Given the description of an element on the screen output the (x, y) to click on. 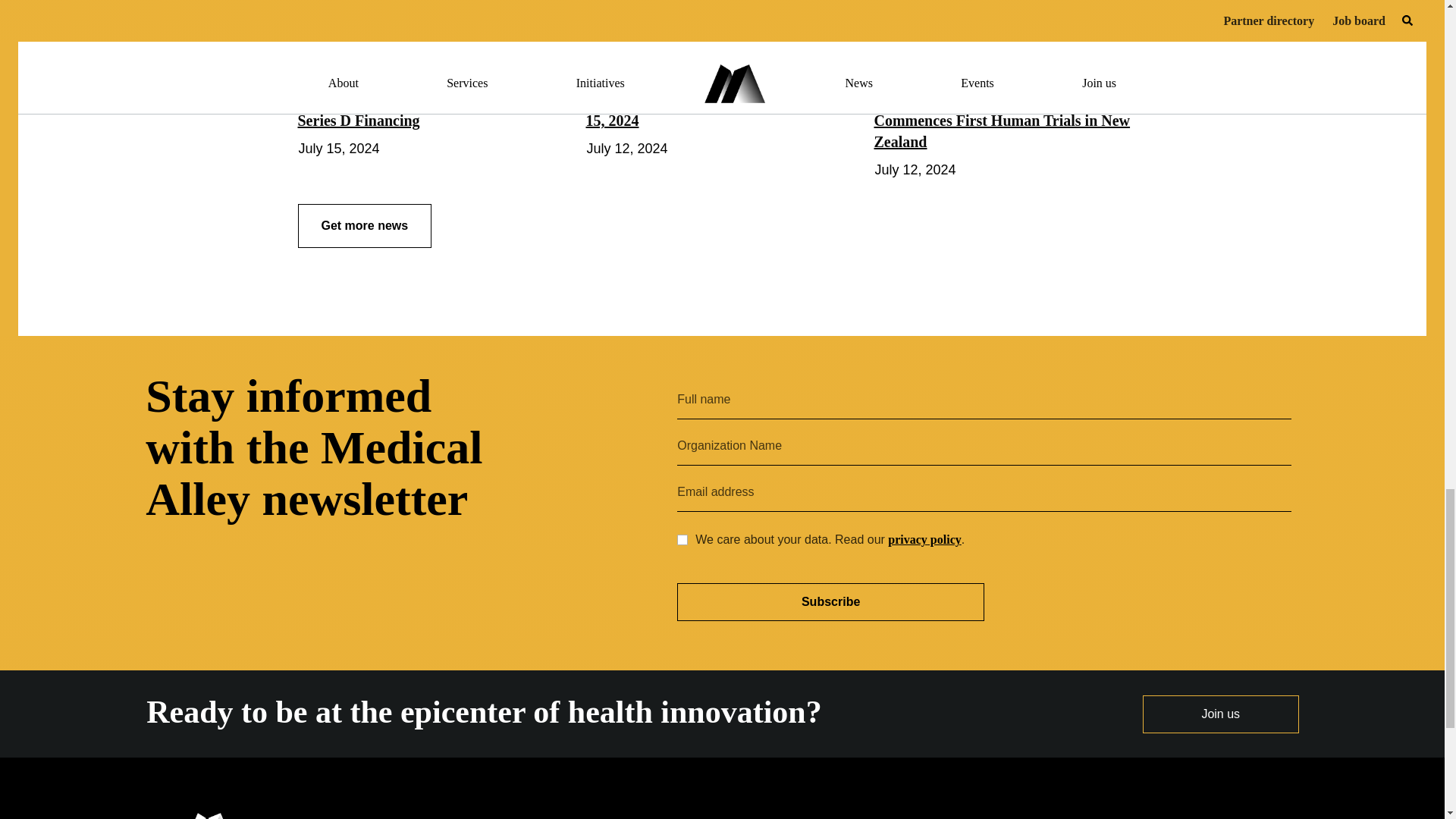
Rectangle 26 (884, 71)
In the Know: Healthcare News for July 15, 2024 (712, 109)
Rectangle 26 (596, 71)
Rectangle 26 (308, 71)
